Given the description of an element on the screen output the (x, y) to click on. 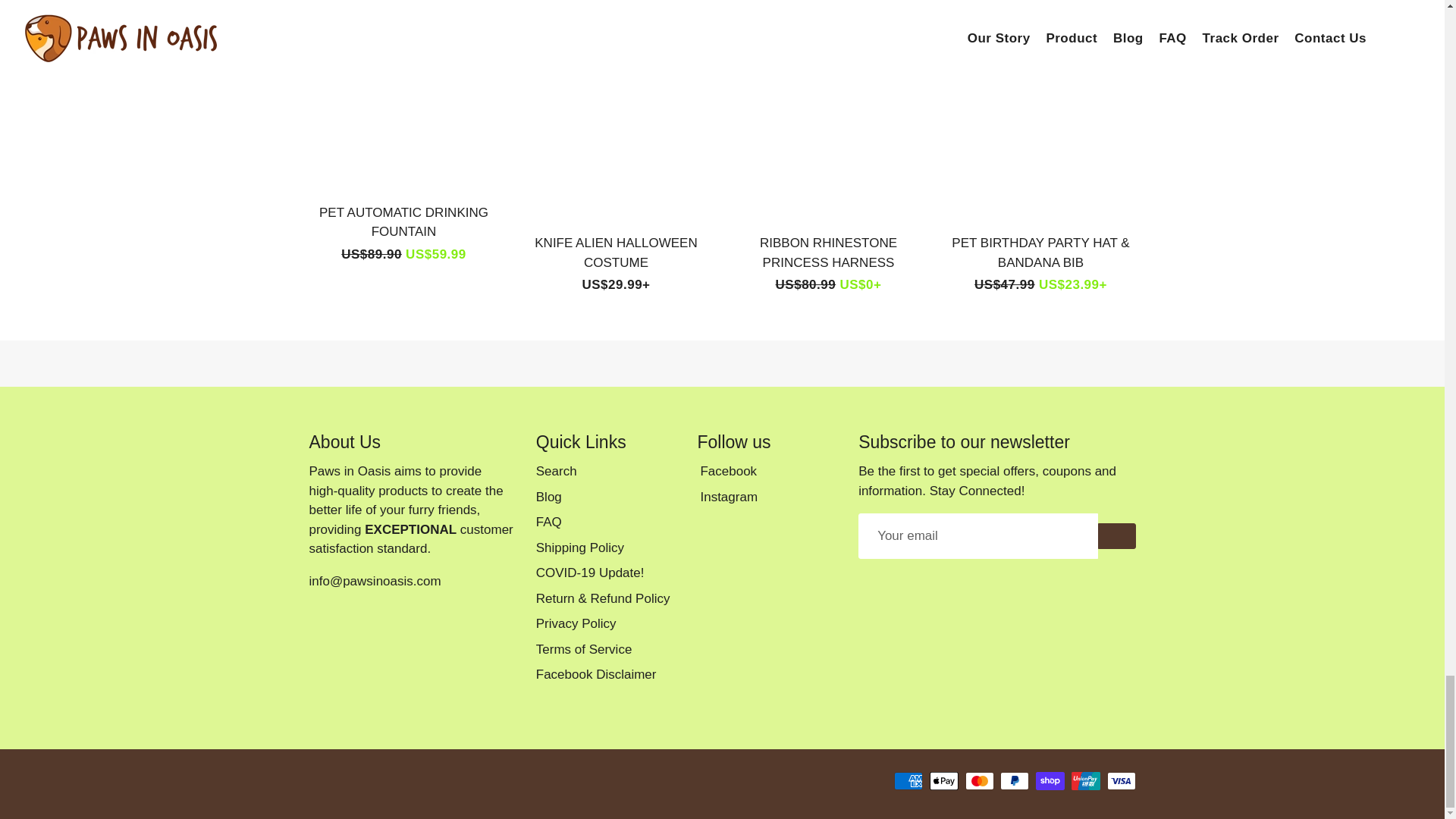
PayPal (1014, 781)
Shop Pay (1049, 781)
American Express (908, 781)
Paws in Oasis on Facebook (727, 471)
Paws in Oasis on Instagram (727, 496)
Visa (1120, 781)
Union Pay (1085, 781)
Apple Pay (944, 781)
Mastercard (979, 781)
